Given the description of an element on the screen output the (x, y) to click on. 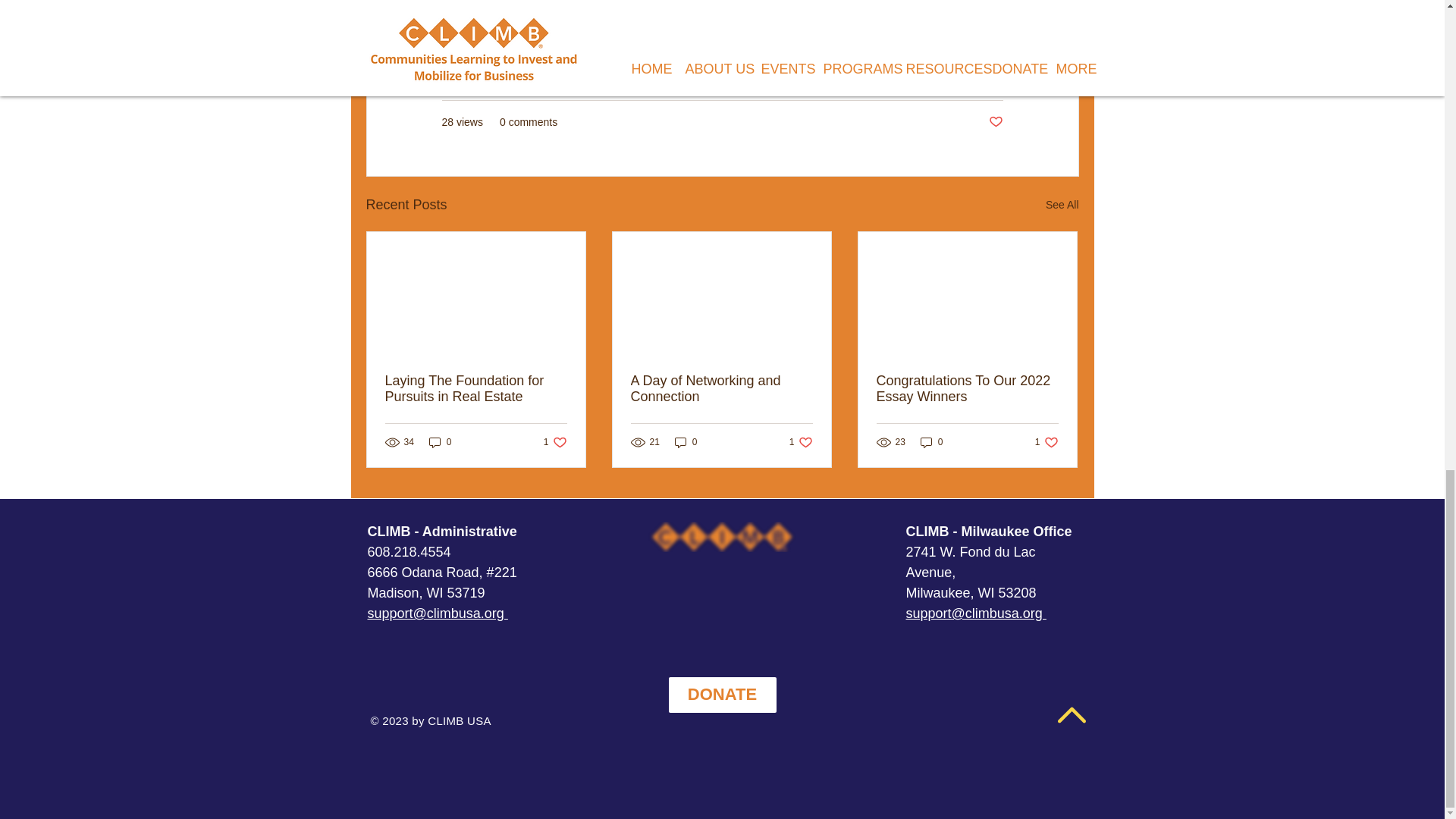
0 (685, 441)
Post not marked as liked (995, 122)
Congratulations To Our 2022 Essay Winners (967, 388)
See All (1061, 205)
Laying The Foundation for Pursuits in Real Estate (800, 441)
A Day of Networking and Connection (476, 388)
CLIMB NEWS (1046, 441)
0 (721, 388)
0 (969, 77)
